Given the description of an element on the screen output the (x, y) to click on. 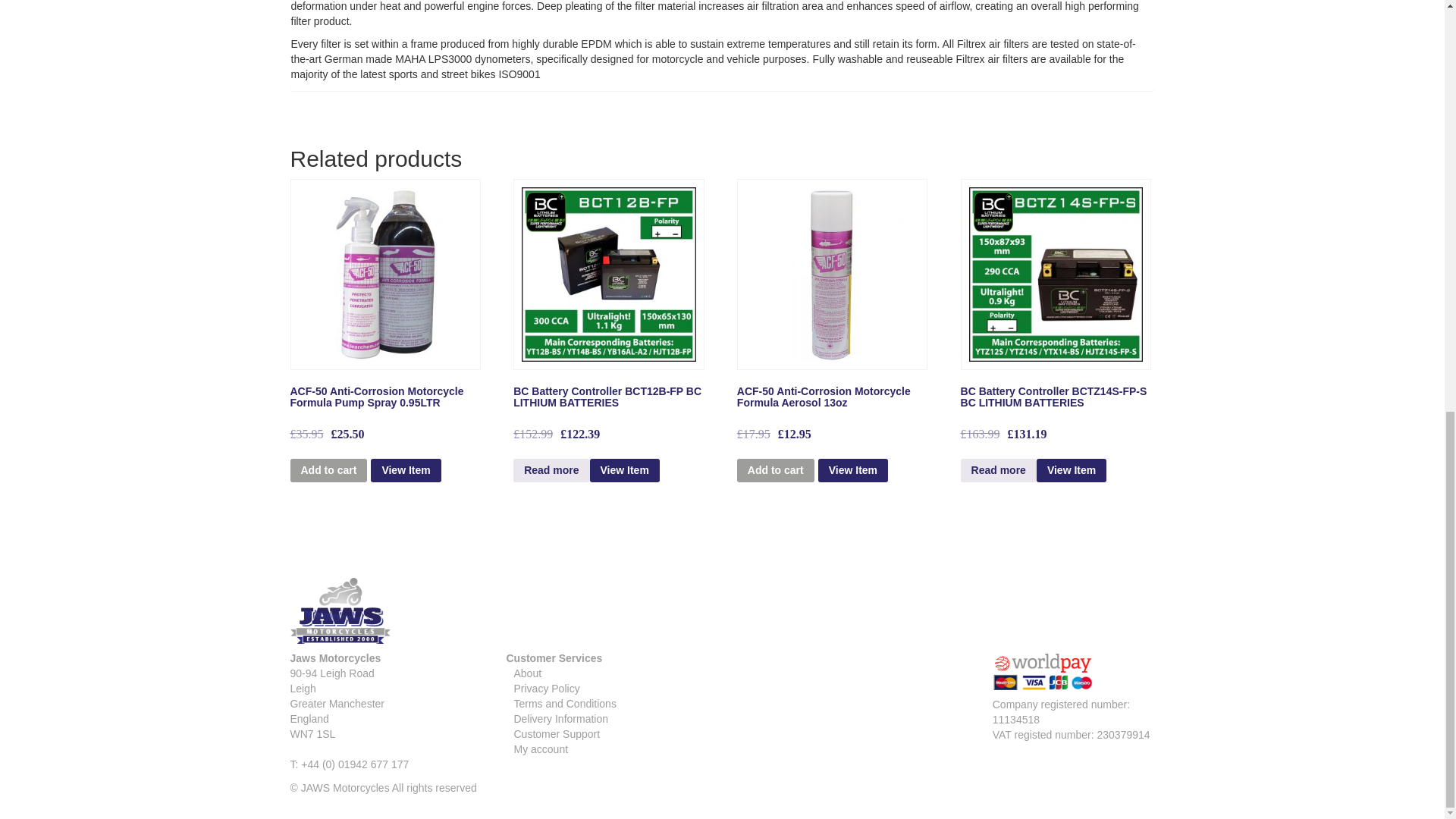
Add to cart (327, 470)
View Item (406, 470)
Read more (551, 470)
